Given the description of an element on the screen output the (x, y) to click on. 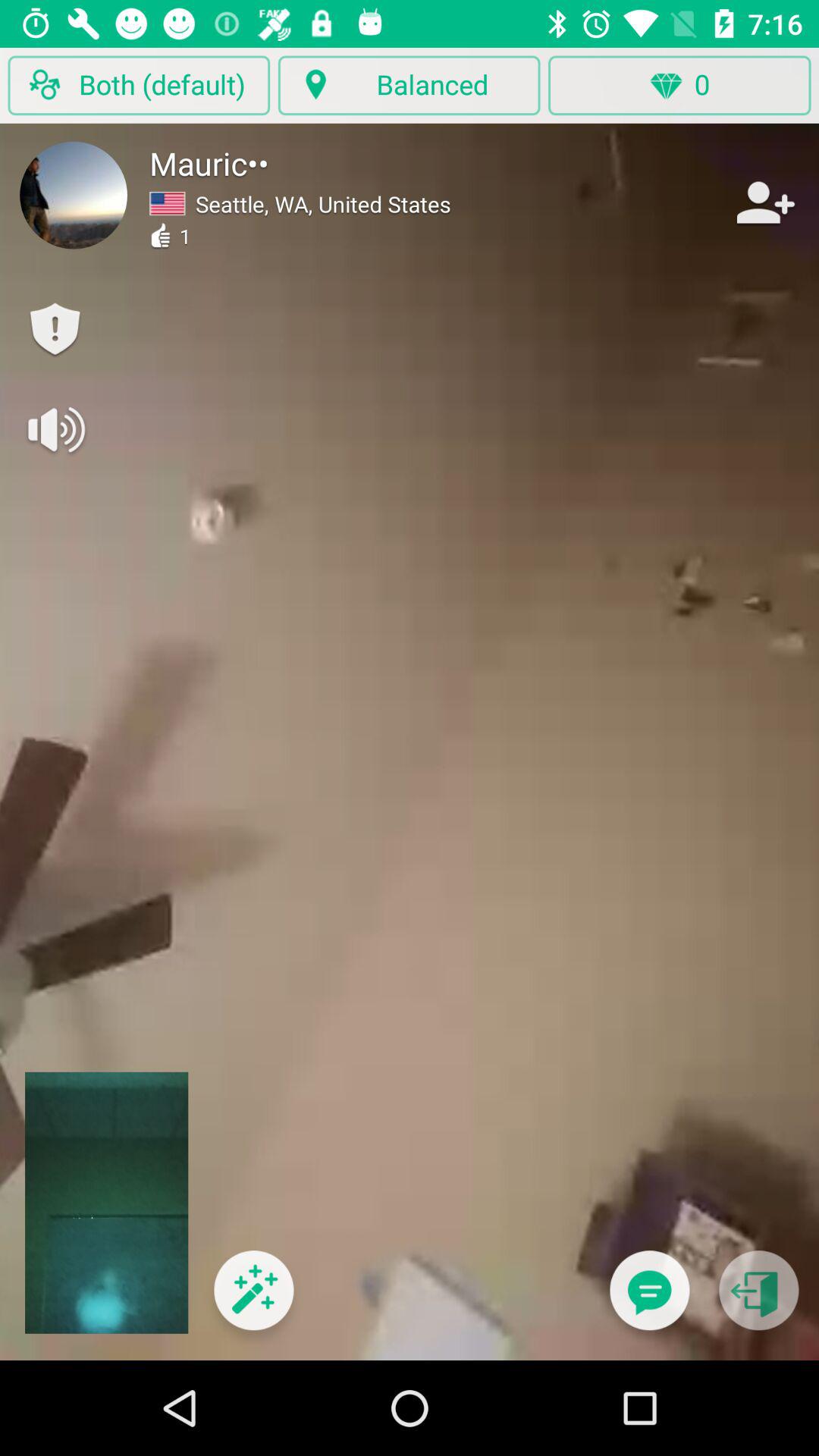
toggle filter (253, 1300)
